Given the description of an element on the screen output the (x, y) to click on. 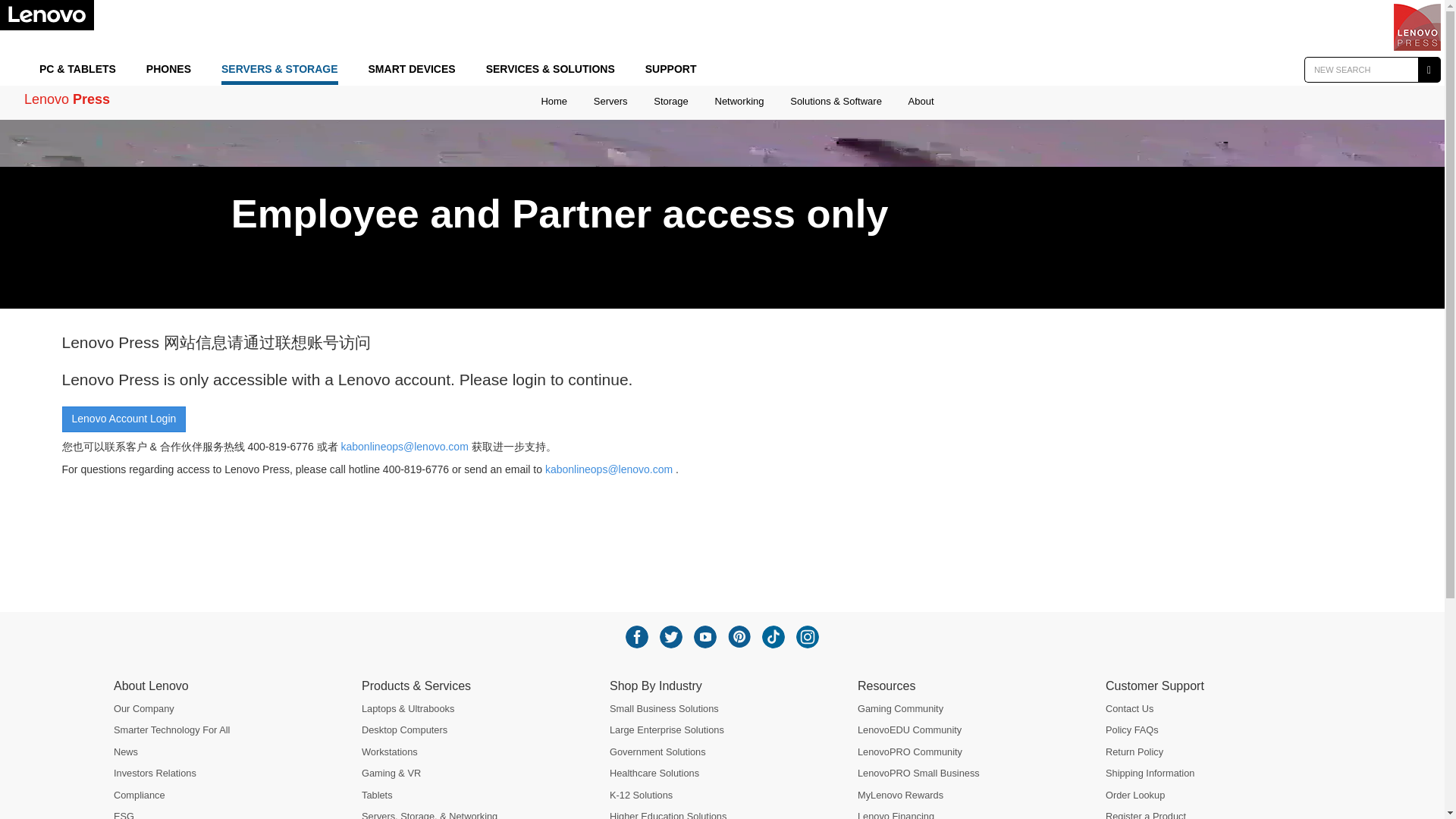
SMART DEVICES (411, 69)
PHONES (168, 69)
Home (553, 104)
SUPPORT (671, 69)
Servers (609, 104)
